Given the description of an element on the screen output the (x, y) to click on. 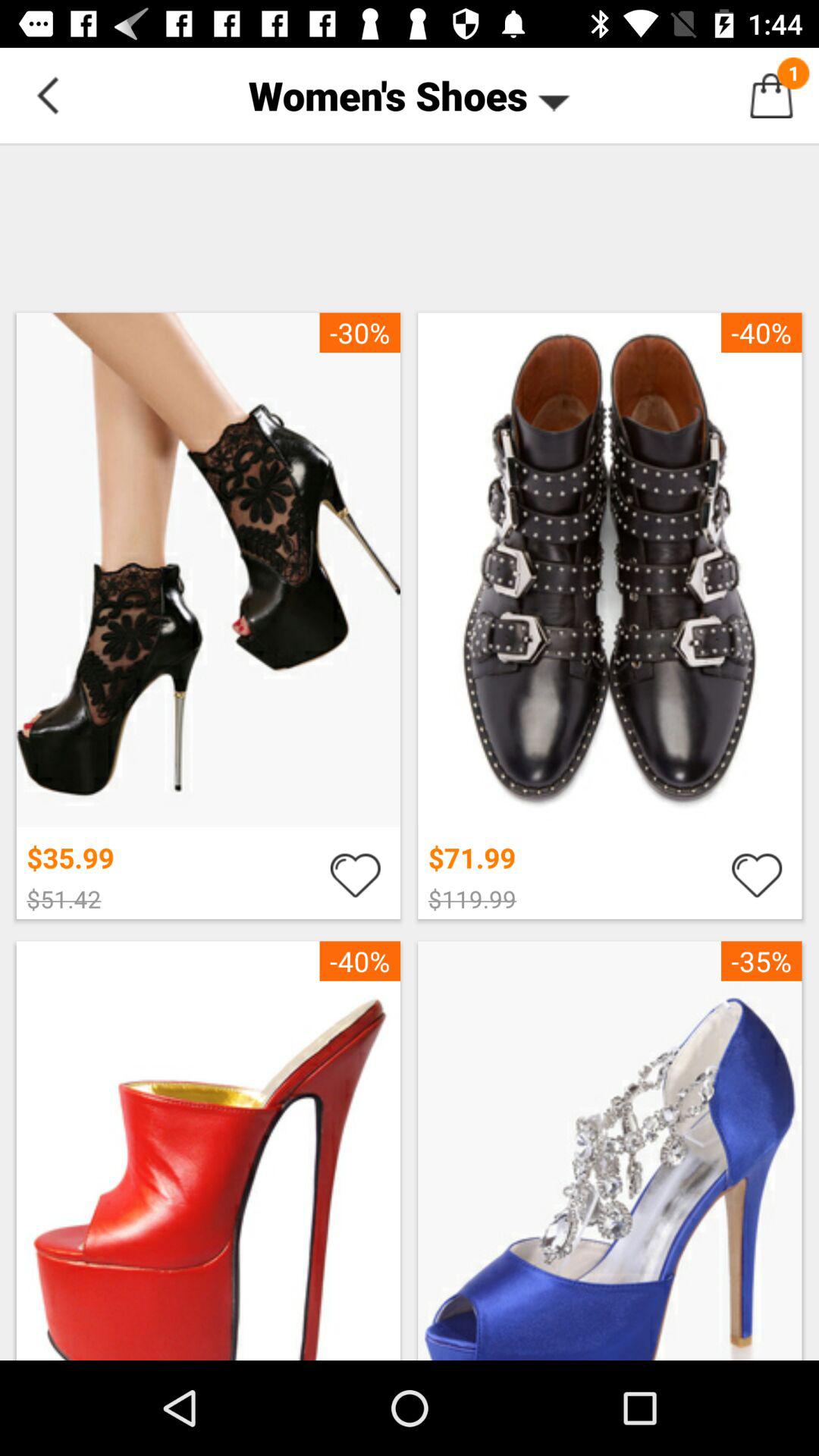
choose the button to the left of women's shoes icon (47, 95)
